Given the description of an element on the screen output the (x, y) to click on. 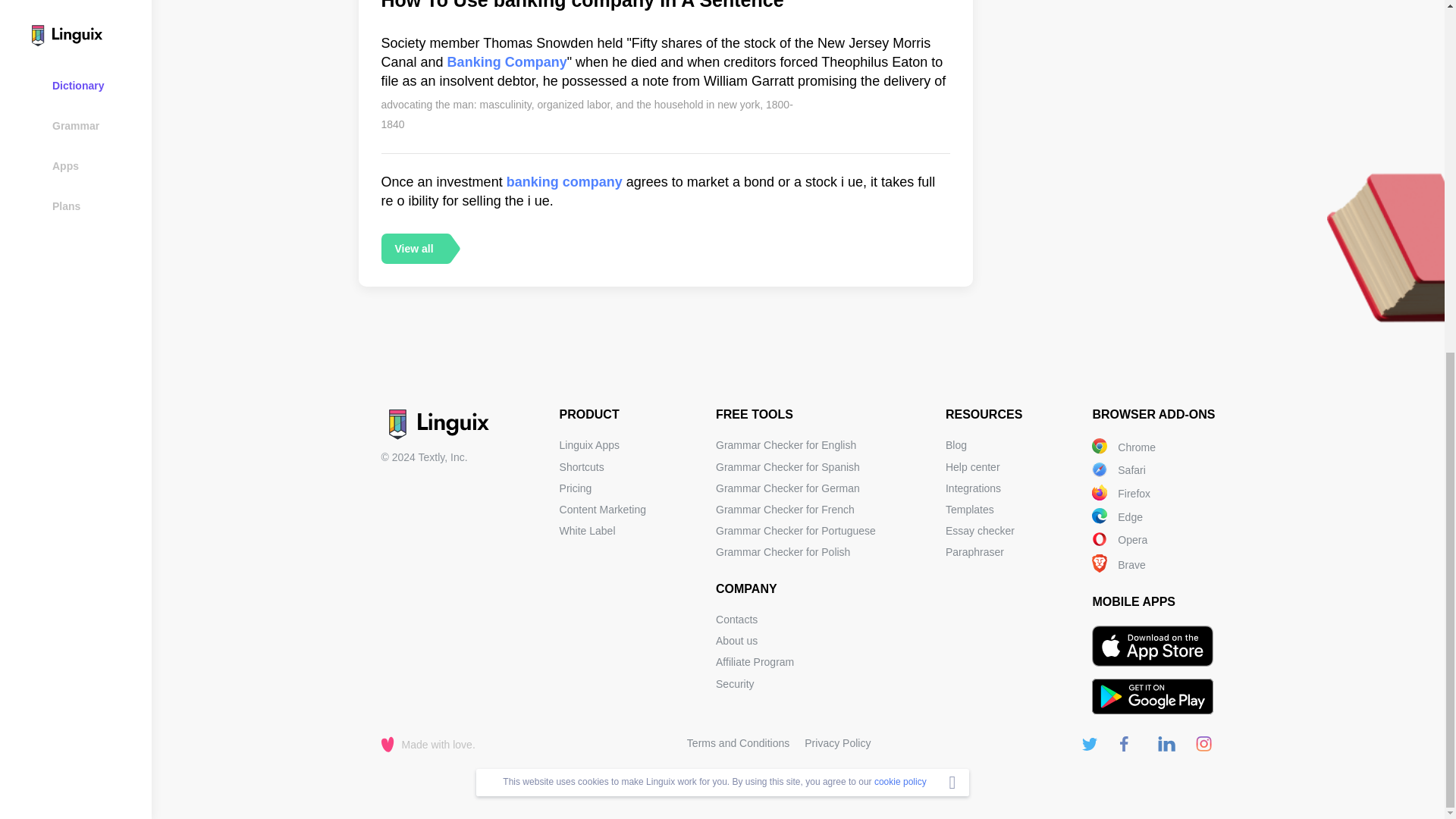
Grammar Checker for English (786, 444)
Grammar Checker for Polish (783, 551)
Grammar Checker for German (788, 488)
cookie policy (900, 166)
Shortcuts (581, 467)
Grammar Checker for Portuguese (796, 530)
Paraphraser (974, 551)
Grammar Checker for French (785, 509)
View all (413, 248)
Grammar Checker for Spanish (788, 467)
